Given the description of an element on the screen output the (x, y) to click on. 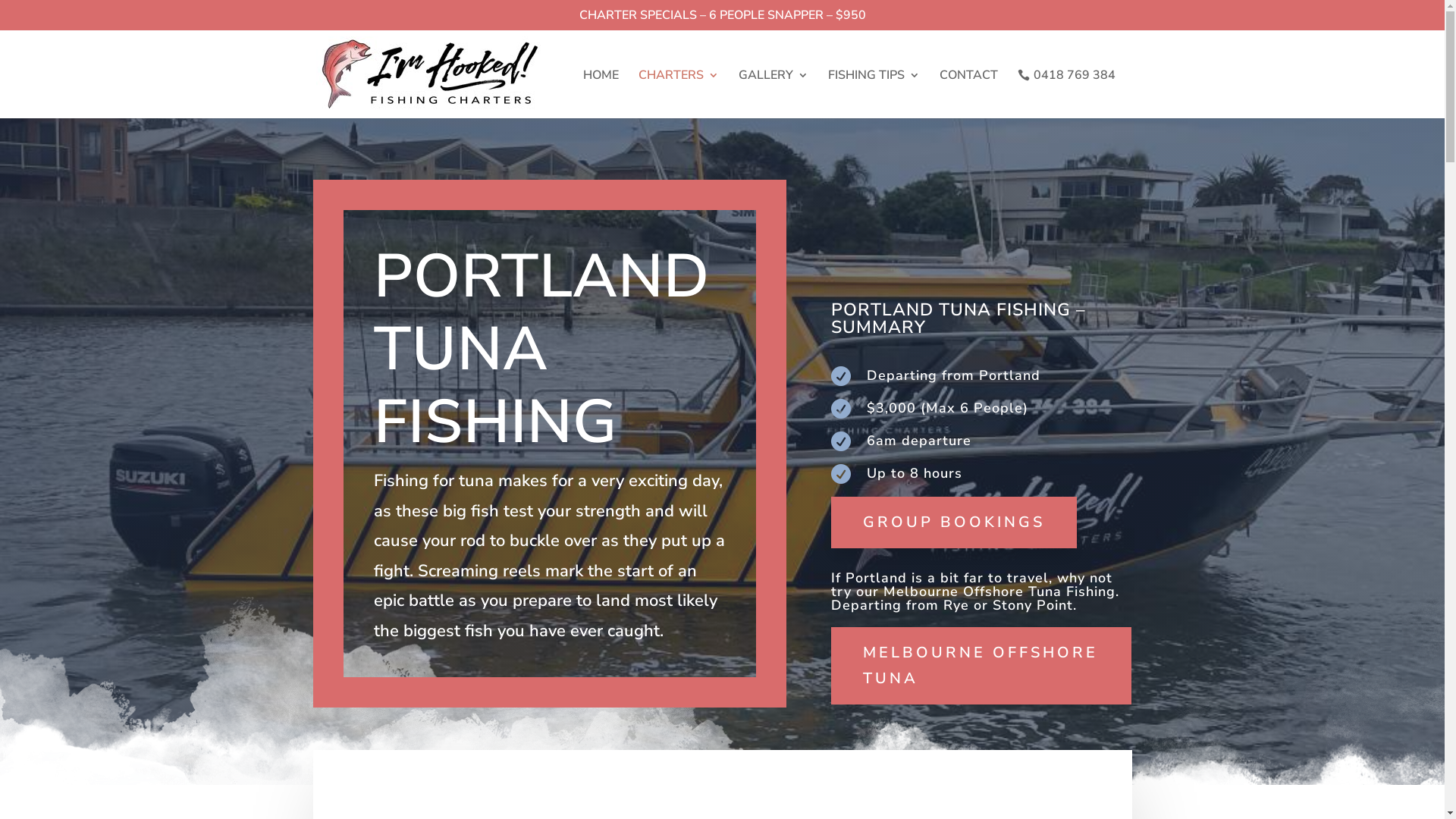
FISHING TIPS Element type: text (873, 93)
GALLERY Element type: text (773, 93)
CHARTERS Element type: text (678, 93)
MELBOURNE OFFSHORE TUNA Element type: text (981, 665)
GROUP BOOKINGS Element type: text (953, 522)
CONTACT Element type: text (967, 93)
0418 769 384 Element type: text (1066, 93)
HOME Element type: text (600, 93)
